Given the description of an element on the screen output the (x, y) to click on. 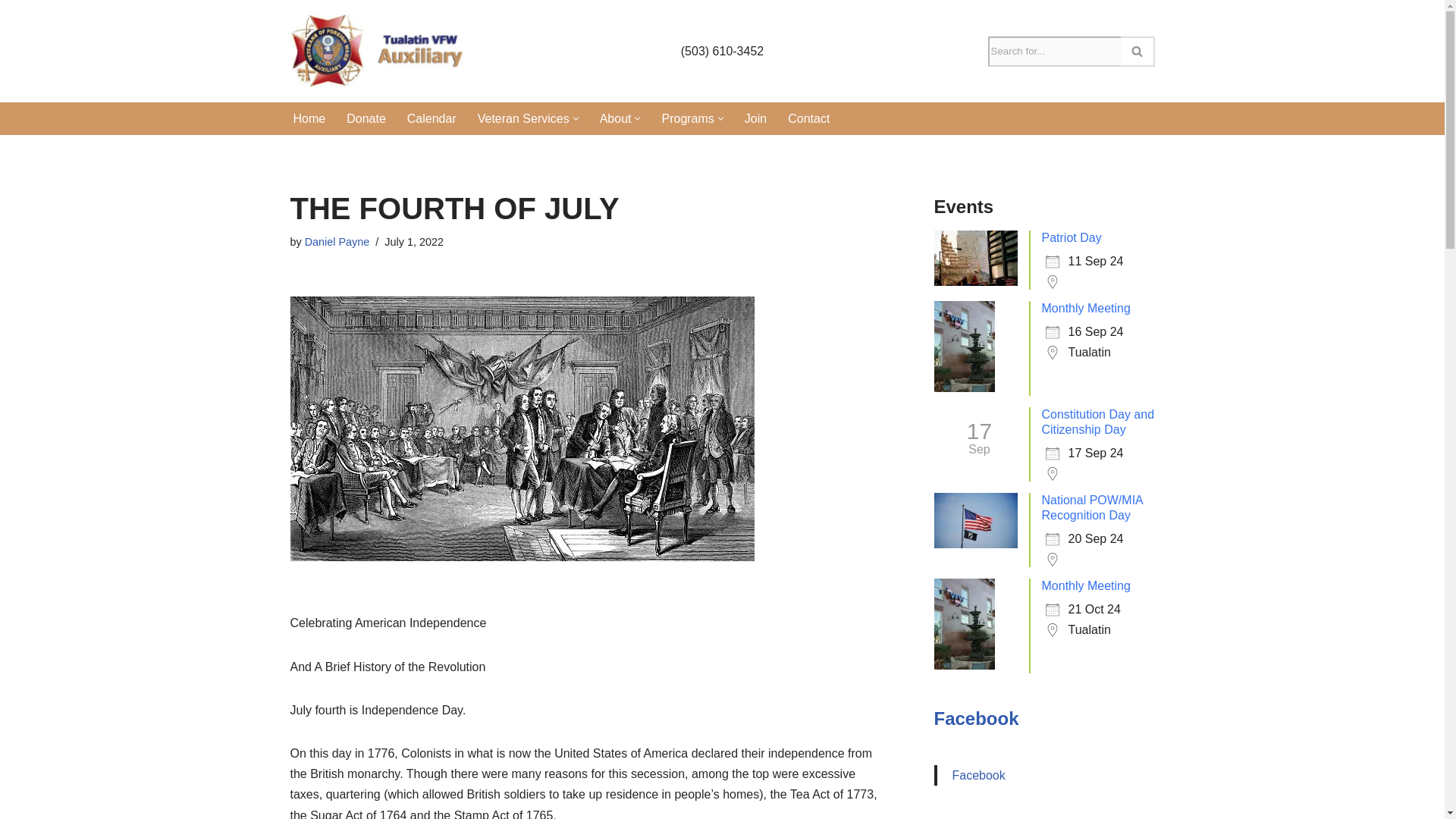
About (615, 118)
Skip to content (11, 31)
Veteran Services (523, 118)
Contact (808, 118)
Join (755, 118)
Donate (365, 118)
Posts by Daniel Payne (336, 241)
Calendar (432, 118)
Programs (687, 118)
Home (308, 118)
